Given the description of an element on the screen output the (x, y) to click on. 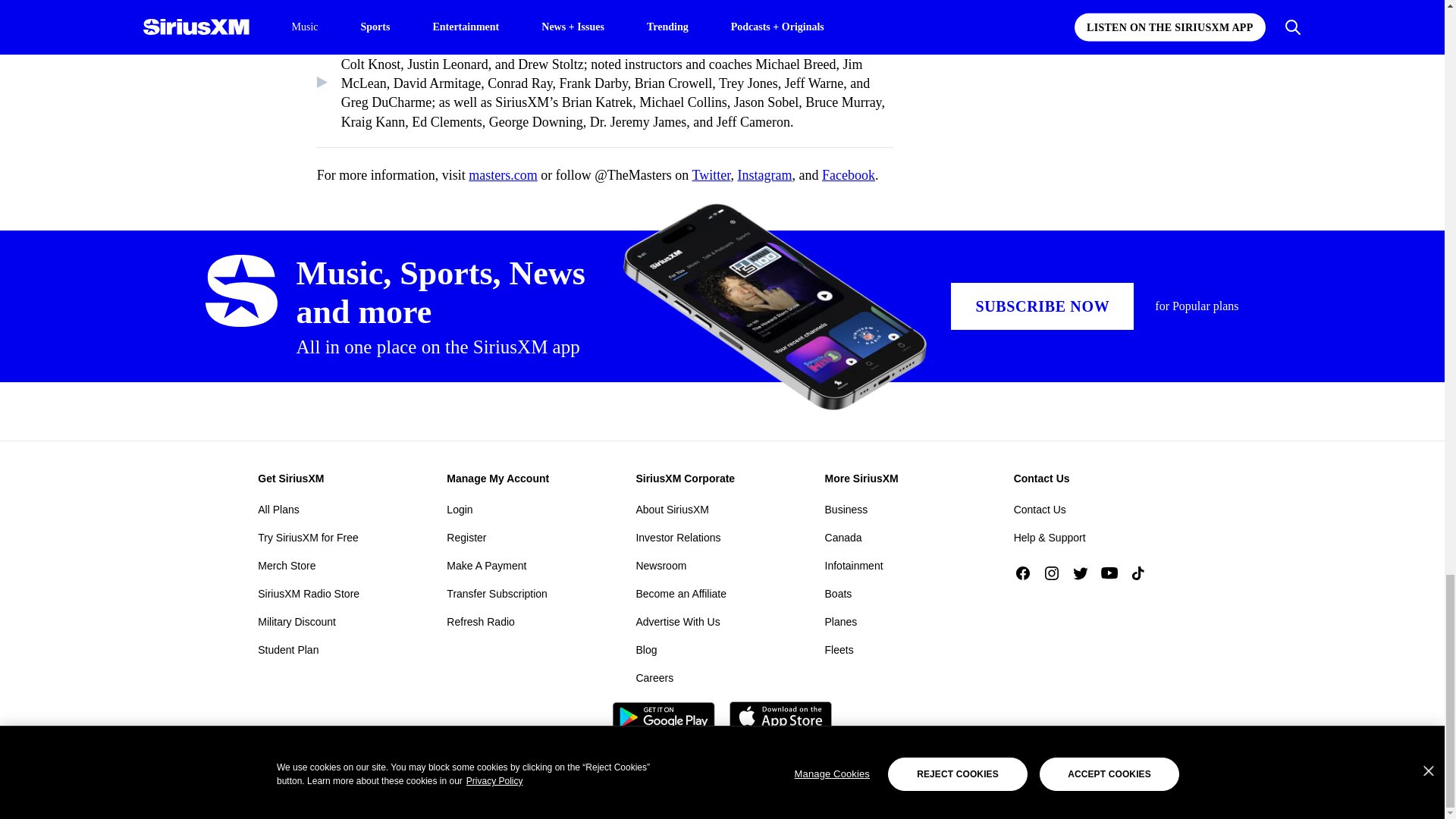
SUBSCRIBE NOW (1042, 306)
Facebook (848, 174)
Instagram (764, 174)
Twitter (710, 174)
masters.com (502, 174)
